Given the description of an element on the screen output the (x, y) to click on. 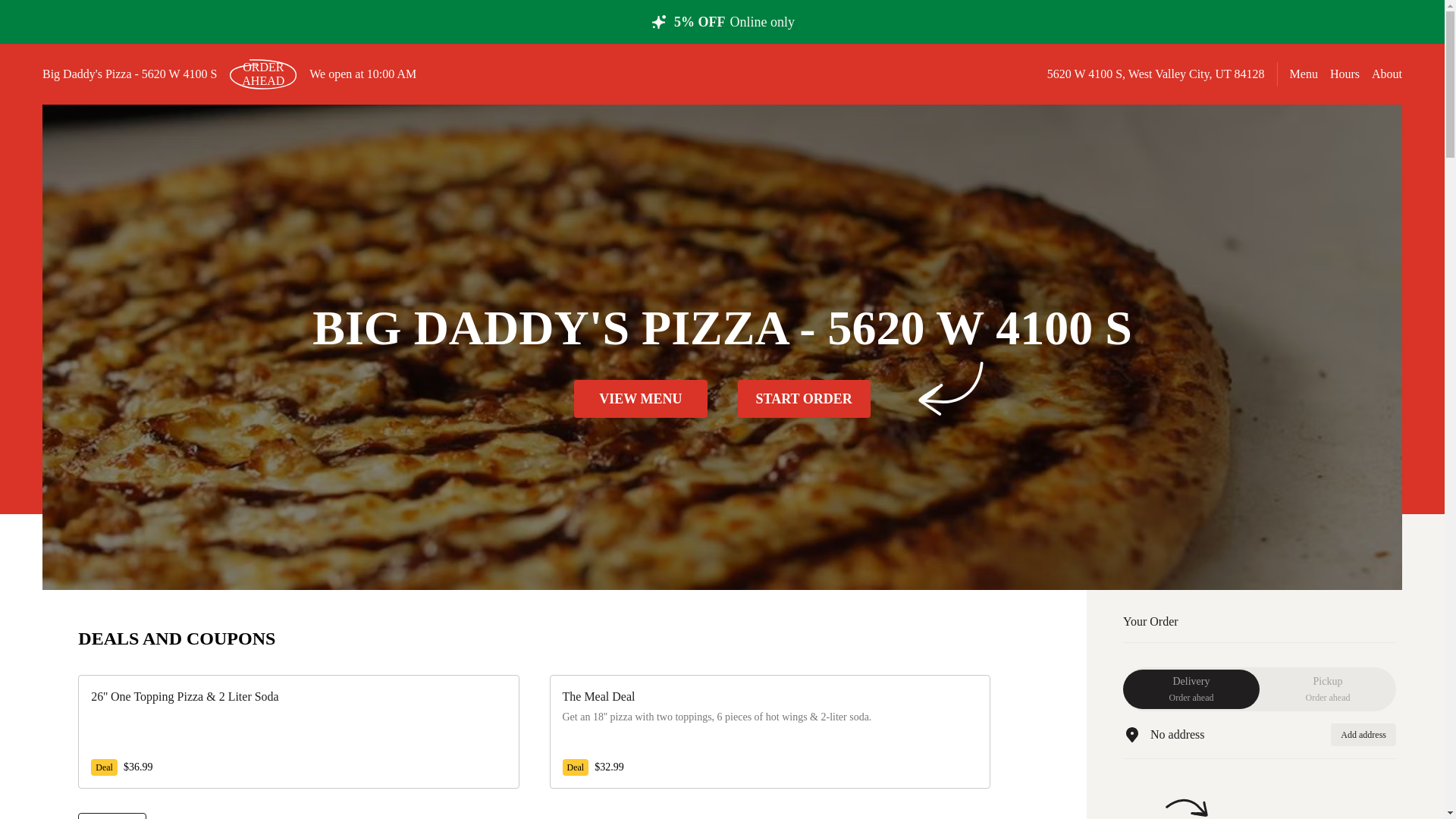
About (1386, 73)
Menu (1303, 73)
VIEW MENU (639, 398)
START ORDER (802, 398)
ORDER AHEAD (262, 73)
Hours (1344, 74)
Show 2 more (1190, 689)
Add address (112, 816)
